Given the description of an element on the screen output the (x, y) to click on. 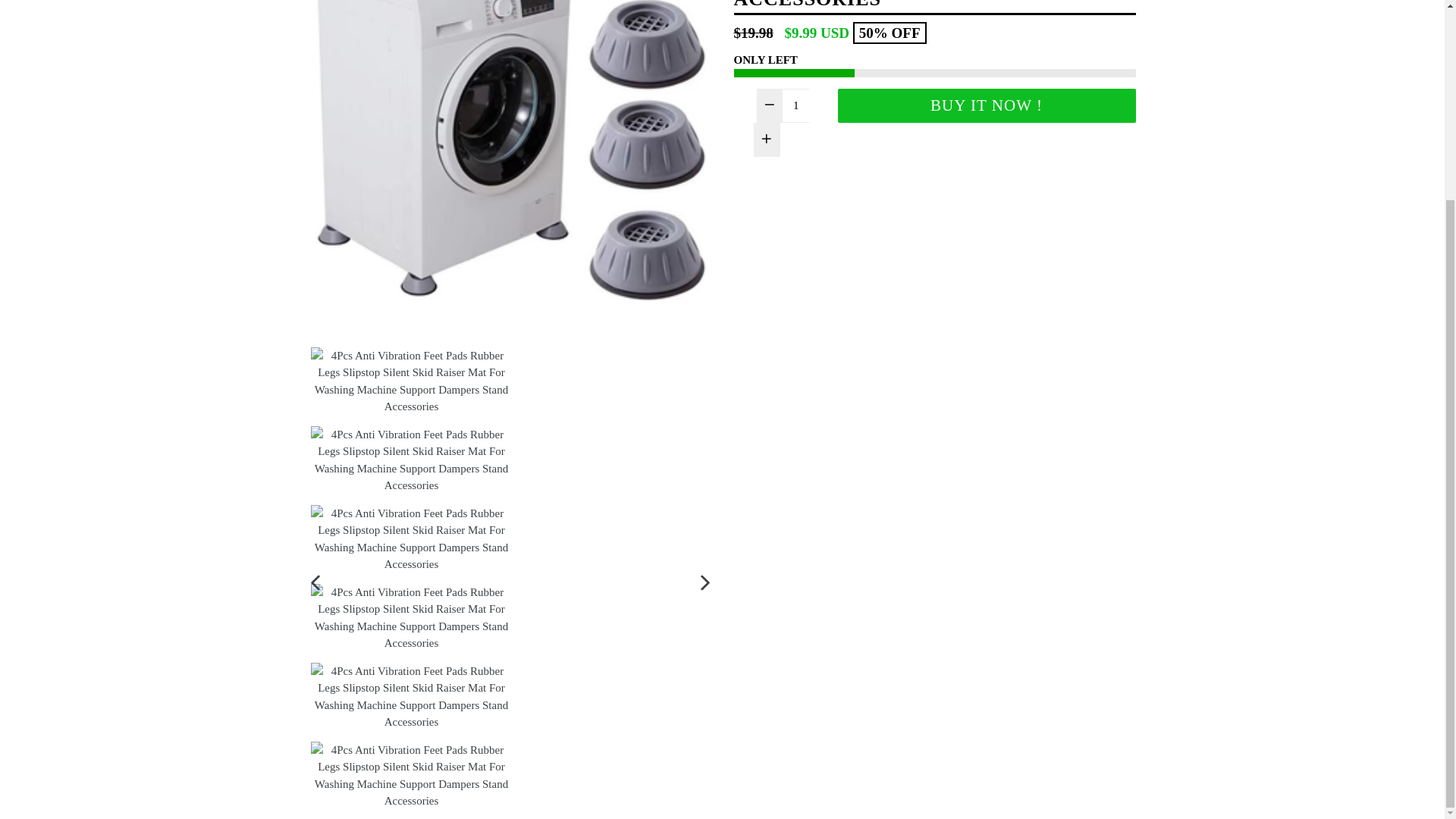
NEXT SLIDE (705, 581)
BUY IT NOW ! (986, 105)
PREVIOUS SLIDE (315, 581)
